Given the description of an element on the screen output the (x, y) to click on. 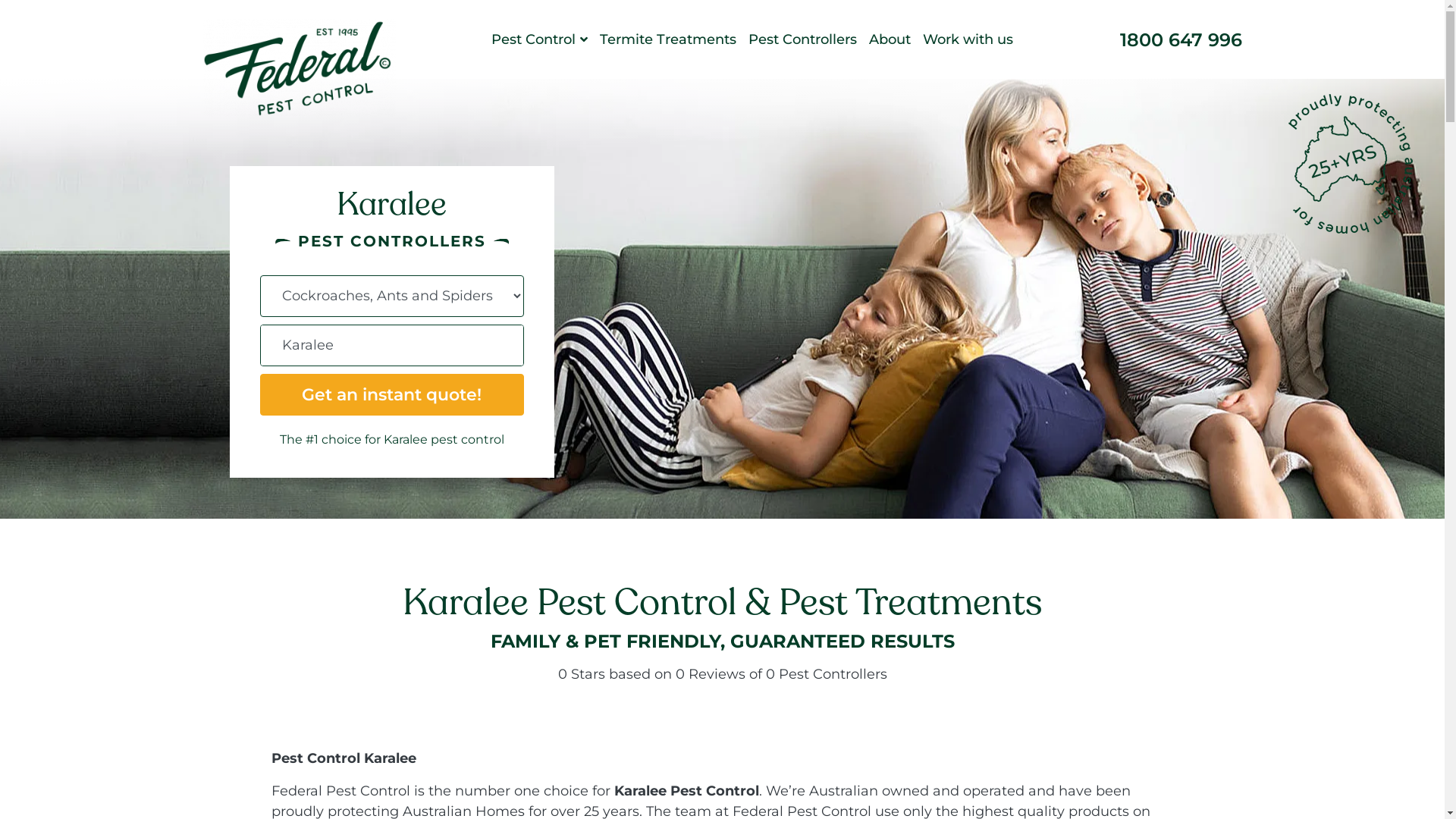
Pest Control Element type: text (539, 38)
  1800 647 996 Element type: text (1174, 39)
Termite Treatments Element type: text (667, 38)
Work with us Element type: text (967, 38)
Get an instant quote! Element type: text (391, 393)
Pest Controllers Element type: text (802, 38)
About Element type: text (889, 38)
